Given the description of an element on the screen output the (x, y) to click on. 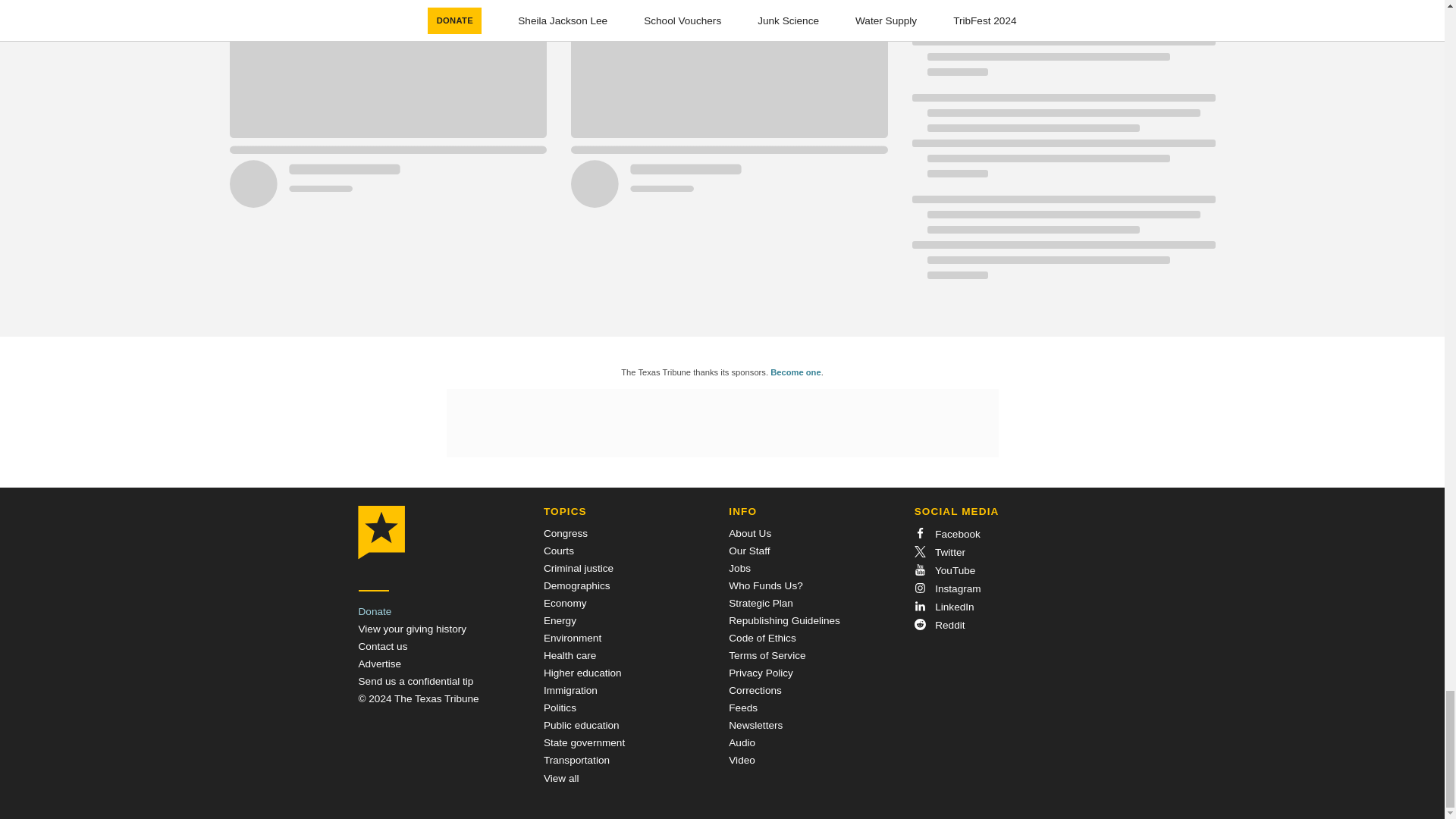
Republishing Guidelines (784, 620)
Terms of Service (767, 655)
Code of Ethics (761, 637)
Feeds (743, 707)
View your giving history (411, 628)
Send a Tip (415, 681)
Corrections (755, 690)
Donate (374, 611)
Newsletters (756, 725)
Audio (742, 742)
Who Funds Us? (765, 585)
Advertise (379, 663)
Privacy Policy (761, 672)
Strategic Plan (761, 603)
Contact us (382, 645)
